Given the description of an element on the screen output the (x, y) to click on. 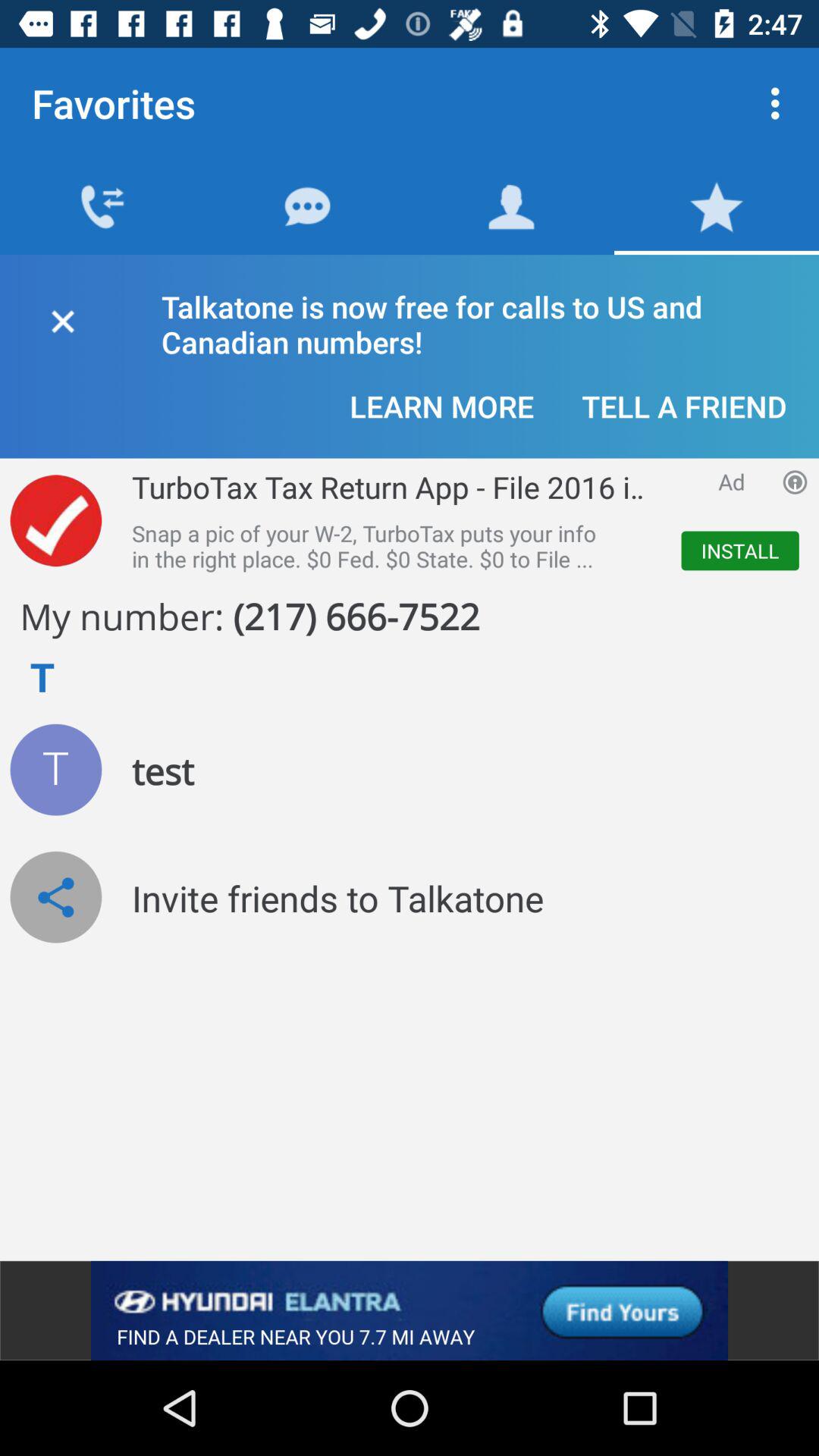
apps (795, 482)
